Given the description of an element on the screen output the (x, y) to click on. 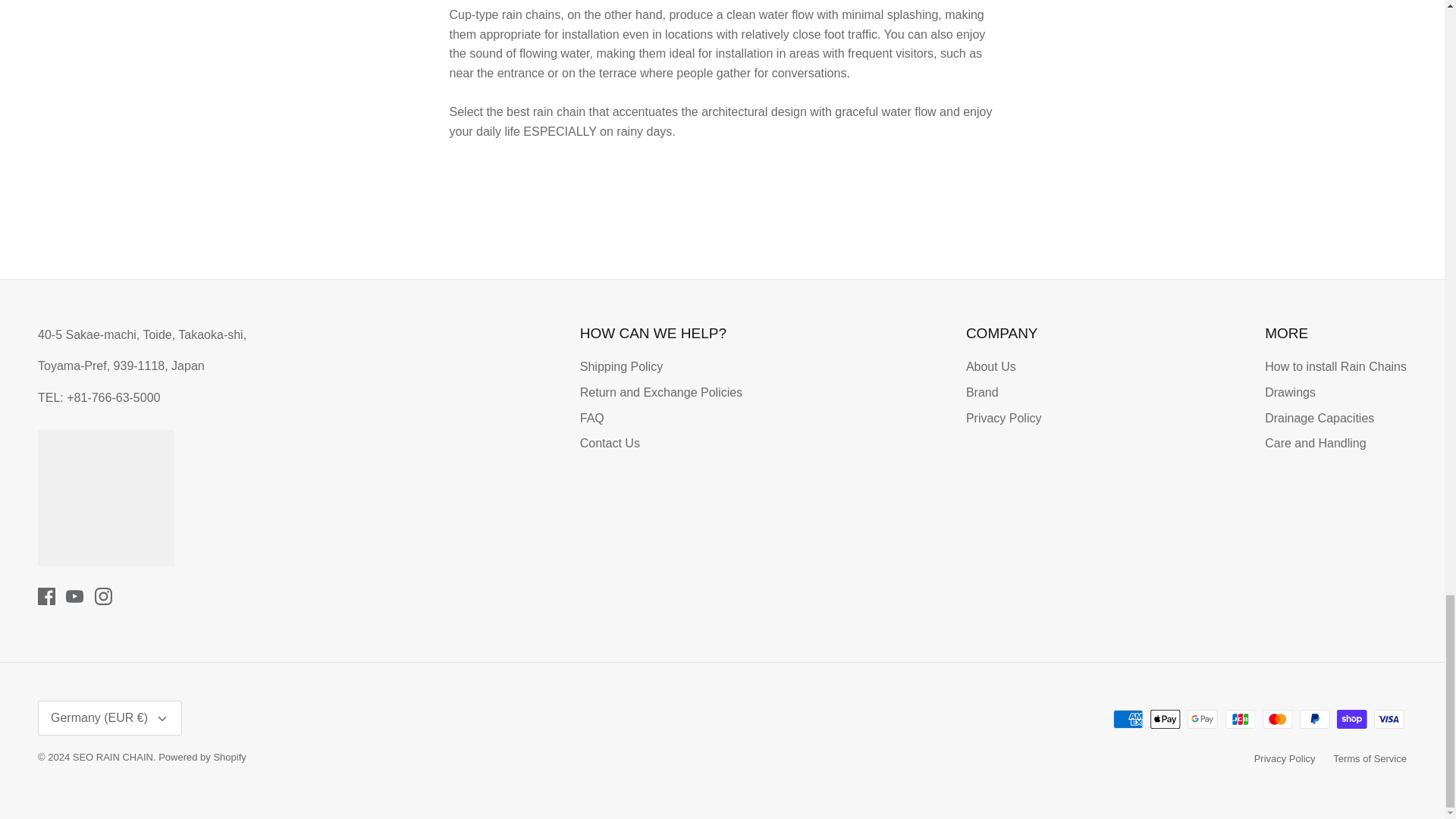
JCB (1240, 719)
PayPal (1314, 719)
Youtube (73, 596)
Google Pay (1202, 719)
Down (161, 718)
Shop Pay (1351, 719)
Instagram (103, 596)
Mastercard (1277, 719)
American Express (1127, 719)
Apple Pay (1165, 719)
